Given the description of an element on the screen output the (x, y) to click on. 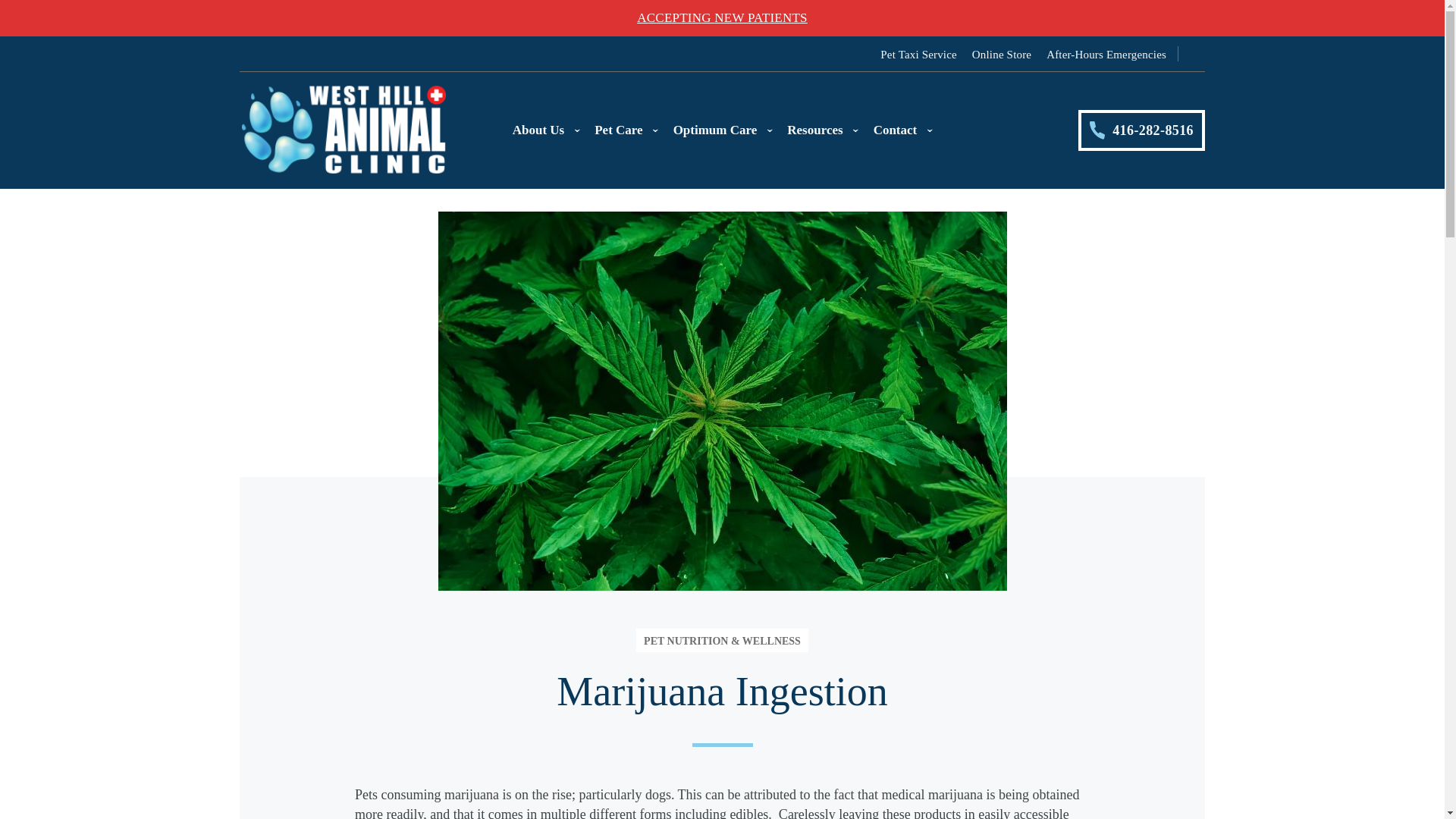
Pet Care (626, 130)
About Us (545, 130)
Online Store (1001, 54)
Contact (903, 130)
Pet Taxi Service (918, 54)
416-282-8516 (1141, 129)
After-Hours Emergencies (1106, 54)
ACCEPTING NEW PATIENTS (722, 17)
Optimum Care (722, 130)
Resources (822, 130)
